Given the description of an element on the screen output the (x, y) to click on. 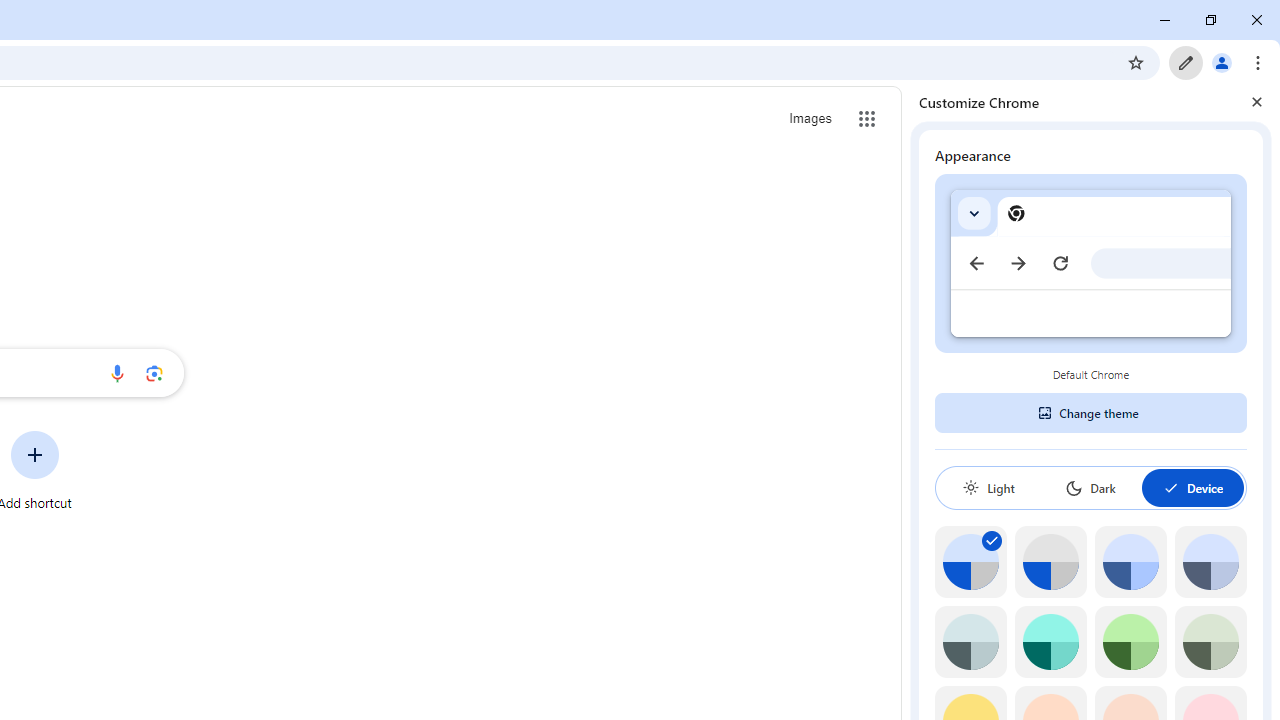
Green (1130, 642)
AutomationID: baseSvg (1170, 488)
Blue (1130, 562)
Default Chrome (1091, 263)
Change theme (1090, 412)
Default color (970, 562)
Grey default color (1050, 562)
Light (988, 487)
Aqua (1050, 642)
